Given the description of an element on the screen output the (x, y) to click on. 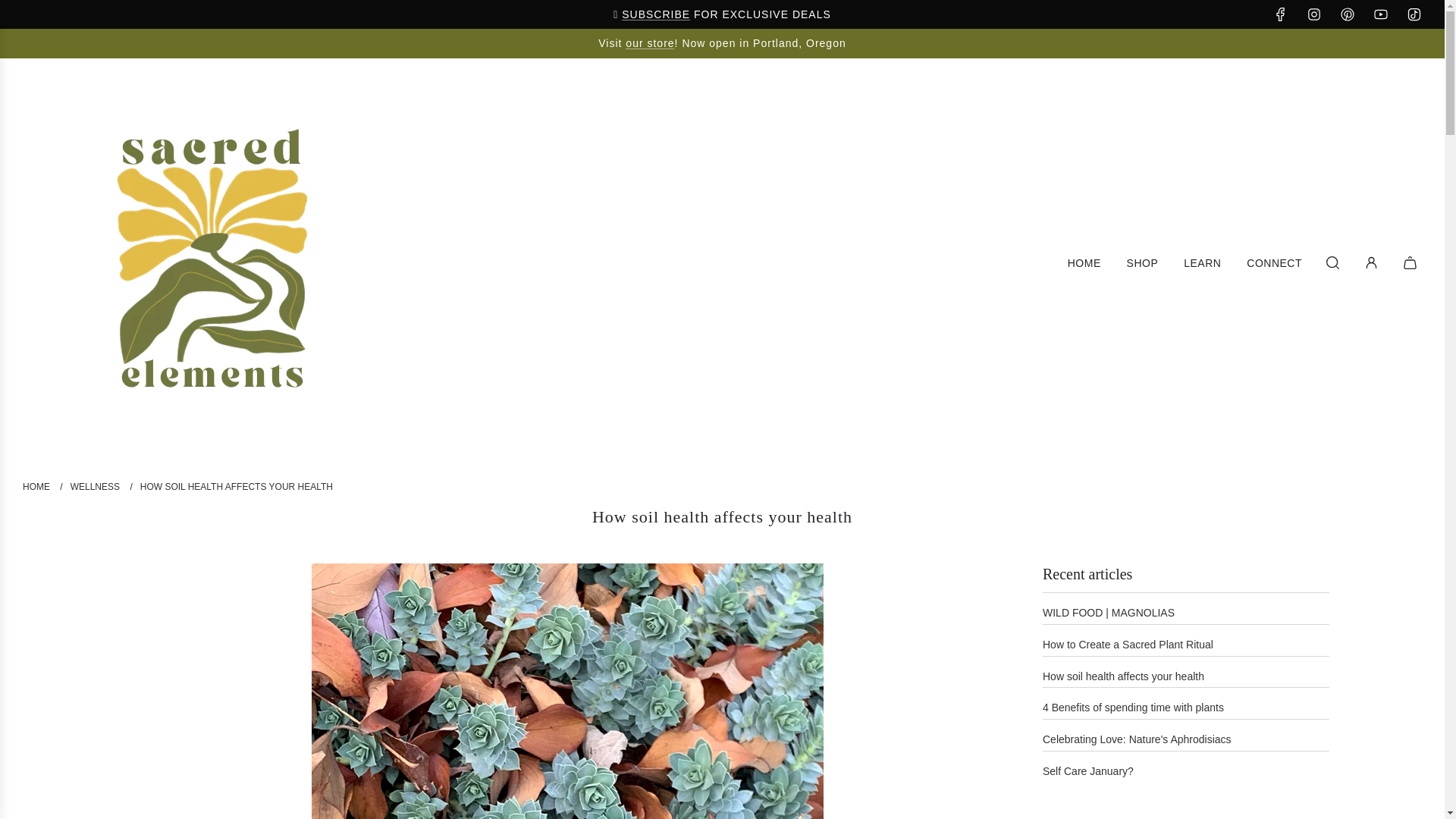
SHOP (1142, 262)
Log in (1371, 262)
Back to the frontpage (37, 486)
Wellness (95, 486)
HOME (1084, 262)
Newsletter Sign Up (655, 14)
our store (650, 42)
SUBSCRIBE (655, 14)
